Given the description of an element on the screen output the (x, y) to click on. 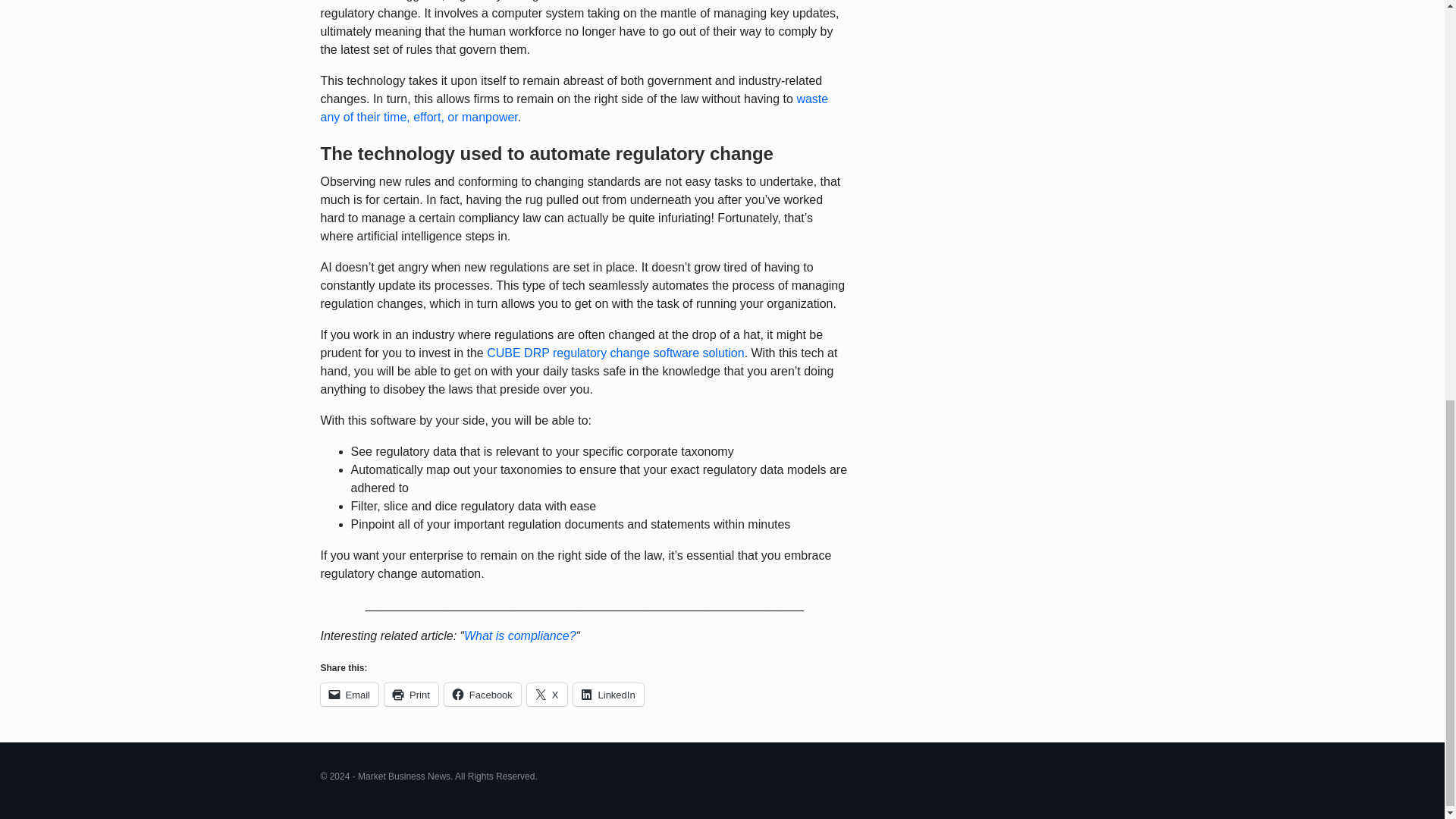
Click to share on X (547, 694)
waste any of their time, effort, or manpower (574, 107)
Click to share on LinkedIn (608, 694)
CUBE DRP regulatory change software solution (615, 352)
Click to print (411, 694)
Print (411, 694)
X (547, 694)
Facebook (482, 694)
Click to share on Facebook (482, 694)
LinkedIn (608, 694)
What is compliance? (520, 635)
Email (349, 694)
Click to email a link to a friend (349, 694)
